Given the description of an element on the screen output the (x, y) to click on. 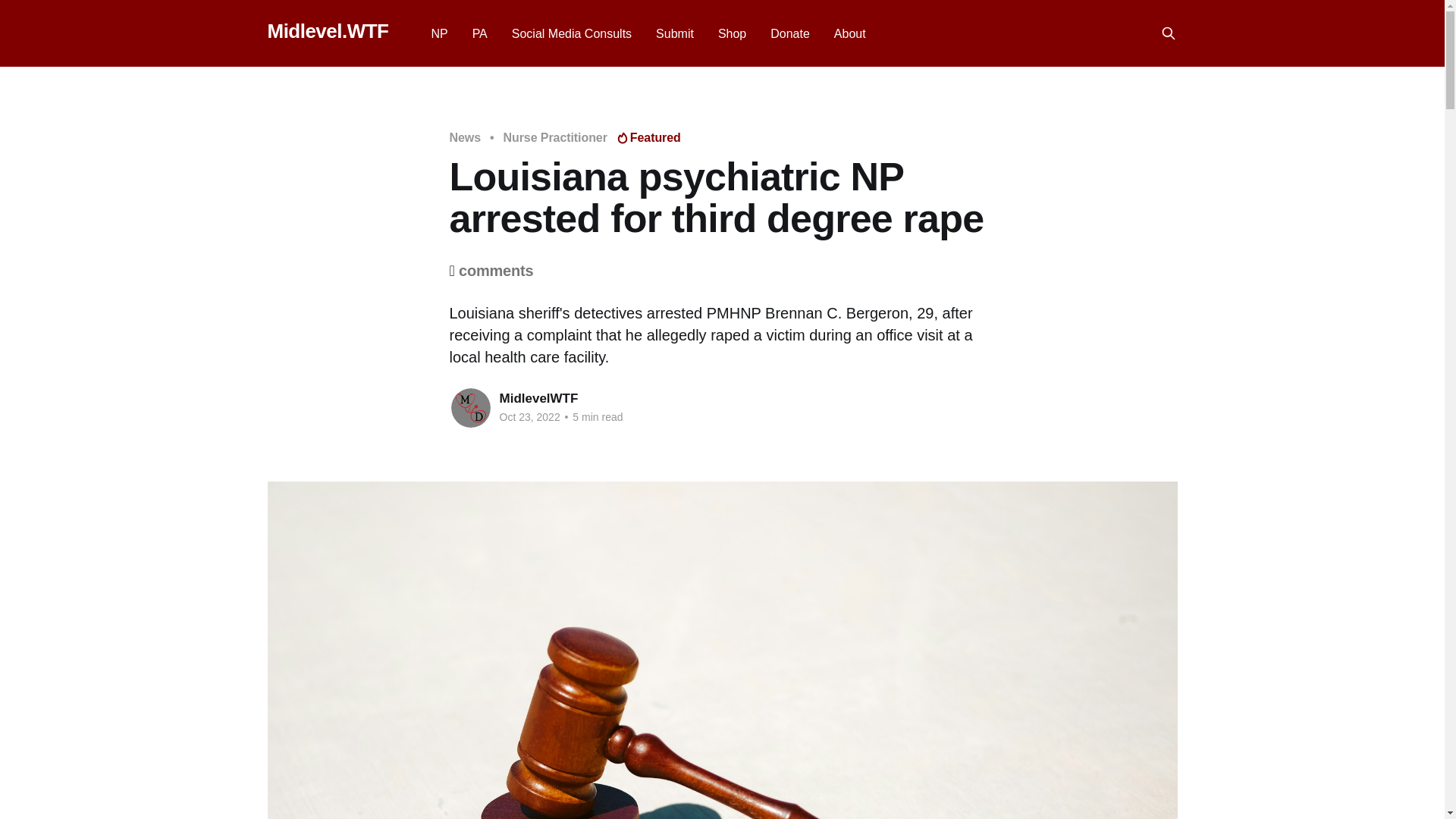
Social Media Consults (571, 33)
Midlevel.WTF (327, 31)
comments (495, 270)
News (464, 137)
About (850, 33)
Donate (789, 33)
Nurse Practitioner (555, 137)
Submit (675, 33)
MidlevelWTF (538, 398)
Shop (731, 33)
